Given the description of an element on the screen output the (x, y) to click on. 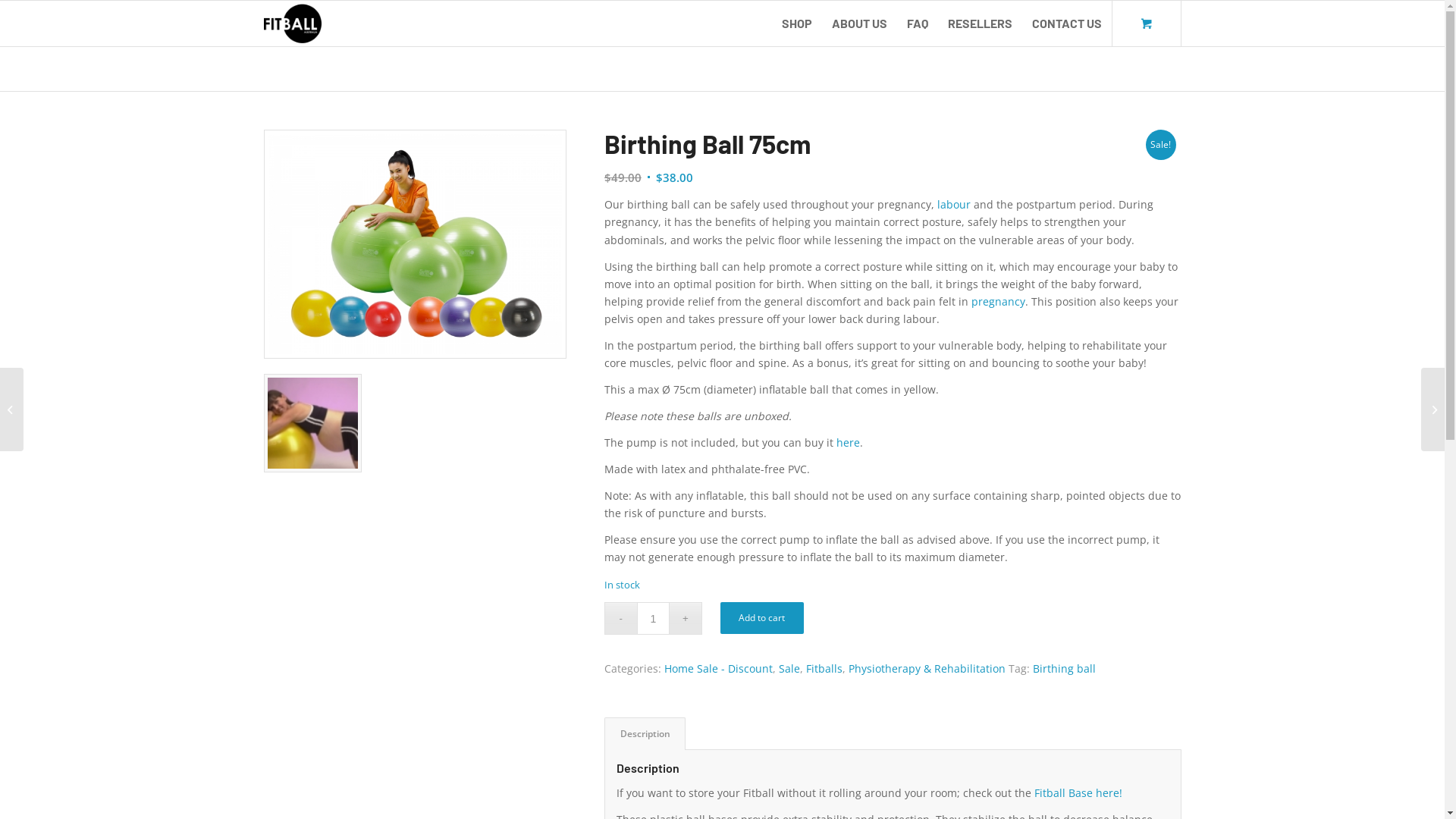
Birthing ball Element type: text (1063, 668)
Physiotherapy & Rehabilitation Element type: text (926, 668)
labour Element type: text (953, 204)
Qty Element type: hover (653, 618)
SHOP Element type: text (796, 23)
Add to cart Element type: text (761, 617)
Home Sale - Discount Element type: text (718, 668)
Fitball Base here! Element type: text (1078, 792)
ABOUT US Element type: text (859, 23)
FAQ Element type: text (916, 23)
pregnancy Element type: text (998, 301)
Sale Element type: text (789, 668)
here Element type: text (847, 442)
Fitballs Element type: text (824, 668)
Description Element type: text (644, 733)
CONTACT US Element type: text (1066, 23)
RESELLERS Element type: text (979, 23)
